Given the description of an element on the screen output the (x, y) to click on. 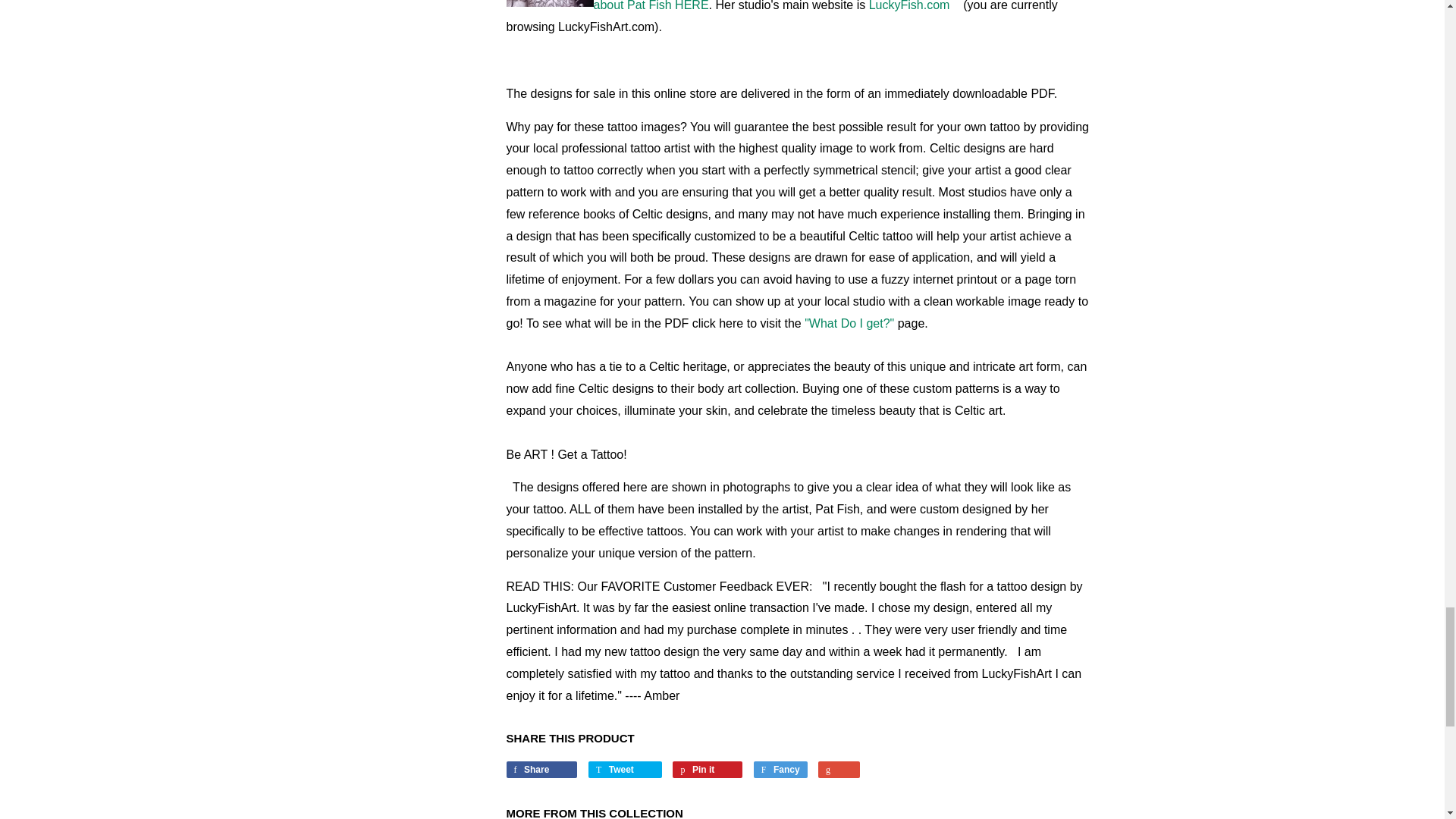
Celtic Tattoos by Pat Fish (909, 5)
Meet Pat Fish (825, 6)
